Given the description of an element on the screen output the (x, y) to click on. 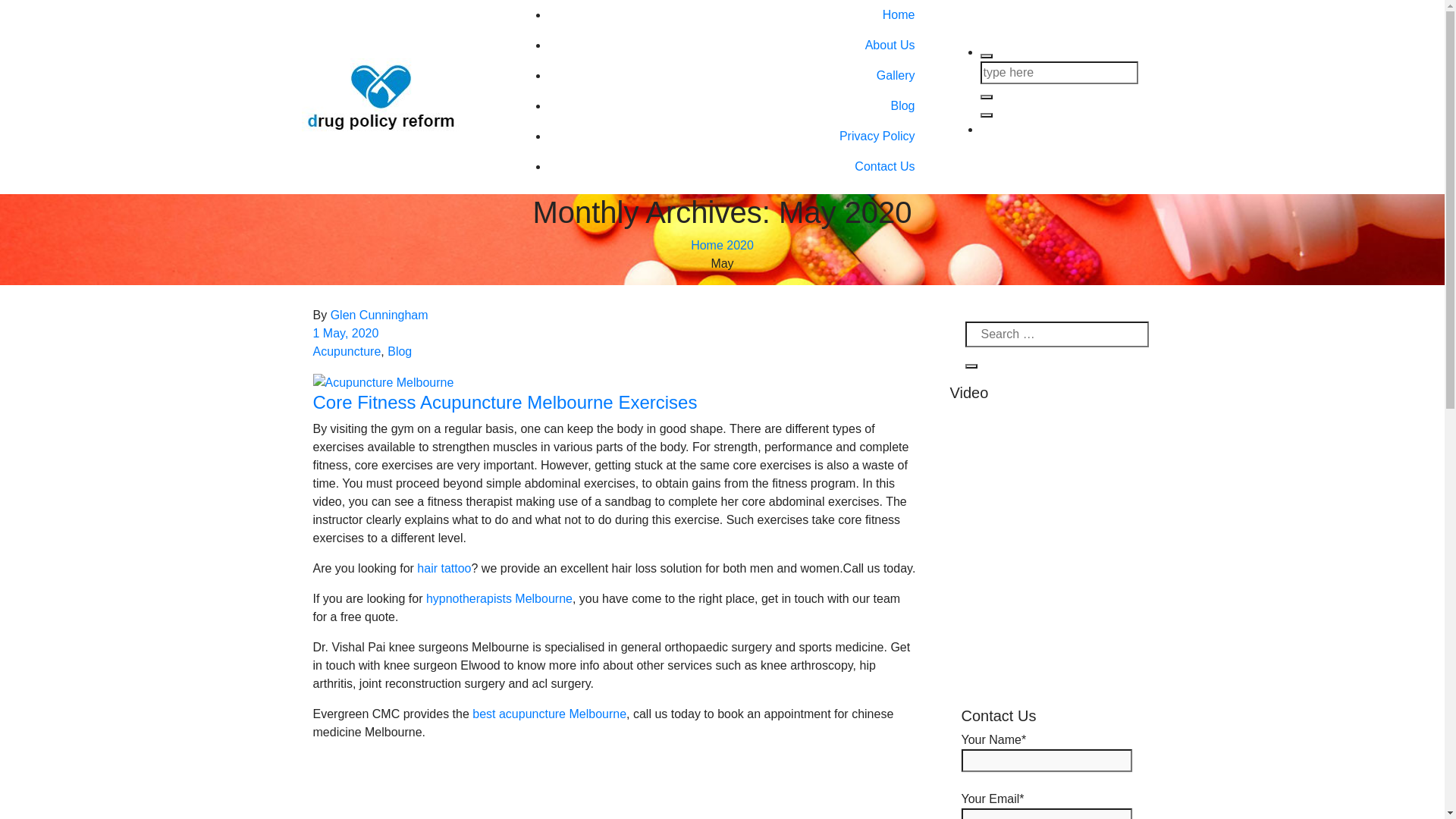
Home Element type: text (736, 15)
Glen Cunningham Element type: text (379, 314)
About Us Element type: text (736, 45)
2020 Element type: text (739, 244)
Privacy Policy Element type: text (736, 136)
Acupuncture Element type: text (346, 351)
hair tattoo Element type: text (443, 567)
hypnotherapists Melbourne Element type: text (499, 598)
Core Fitness Acupuncture Melbourne Exercises Element type: text (504, 402)
Contact Us Element type: text (736, 166)
1 May, 2020 Element type: text (345, 332)
best acupuncture Melbourne Element type: text (549, 713)
Blog Element type: text (399, 351)
Blog Element type: text (736, 106)
Gallery Element type: text (736, 75)
Home Element type: text (706, 244)
